Given the description of an element on the screen output the (x, y) to click on. 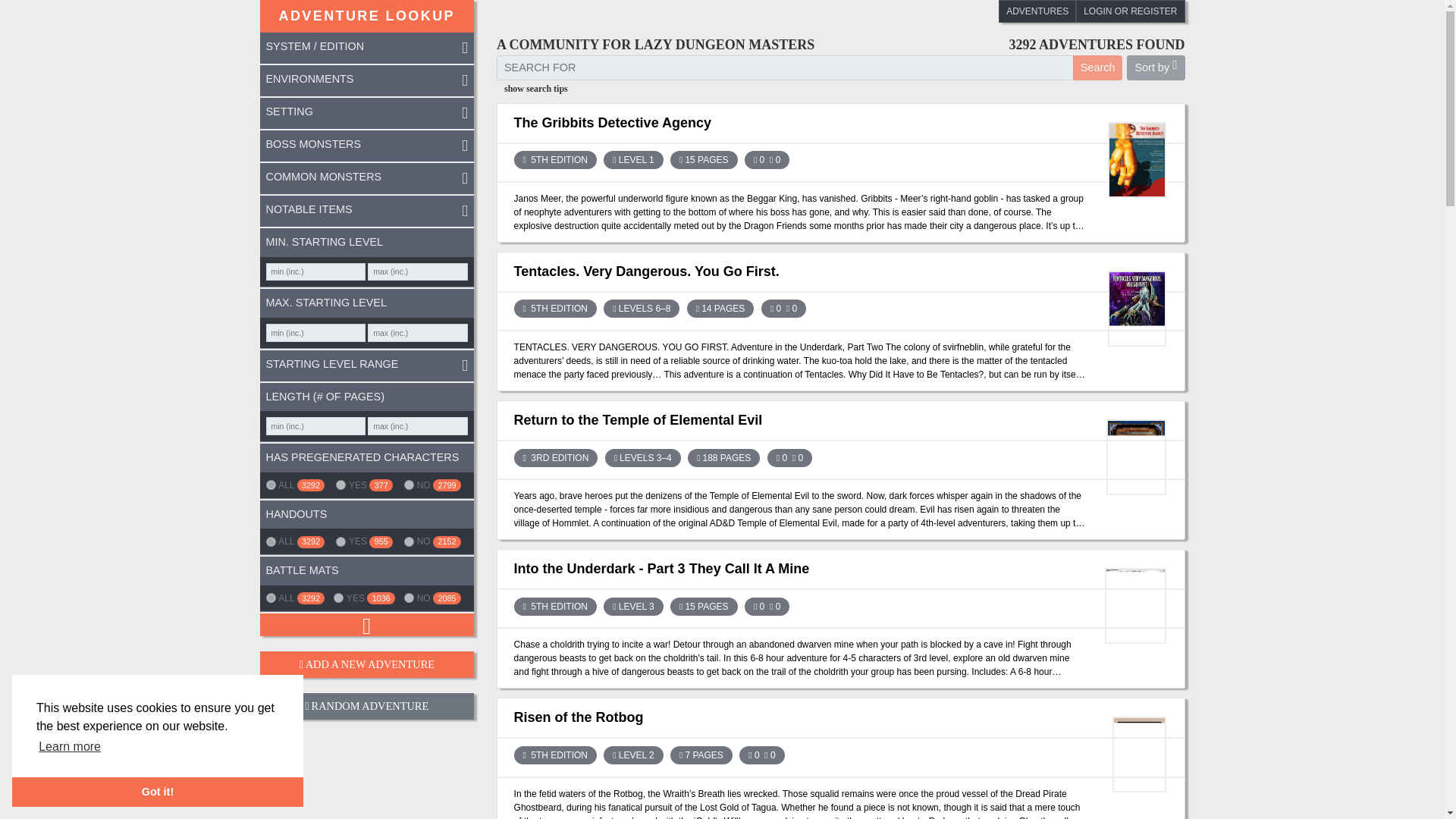
1 (341, 484)
0 (408, 484)
1 (341, 542)
ADVENTURES (1036, 11)
show search tips (840, 88)
0 (408, 597)
RANDOM ADVENTURE (366, 705)
Search (1097, 67)
